Given the description of an element on the screen output the (x, y) to click on. 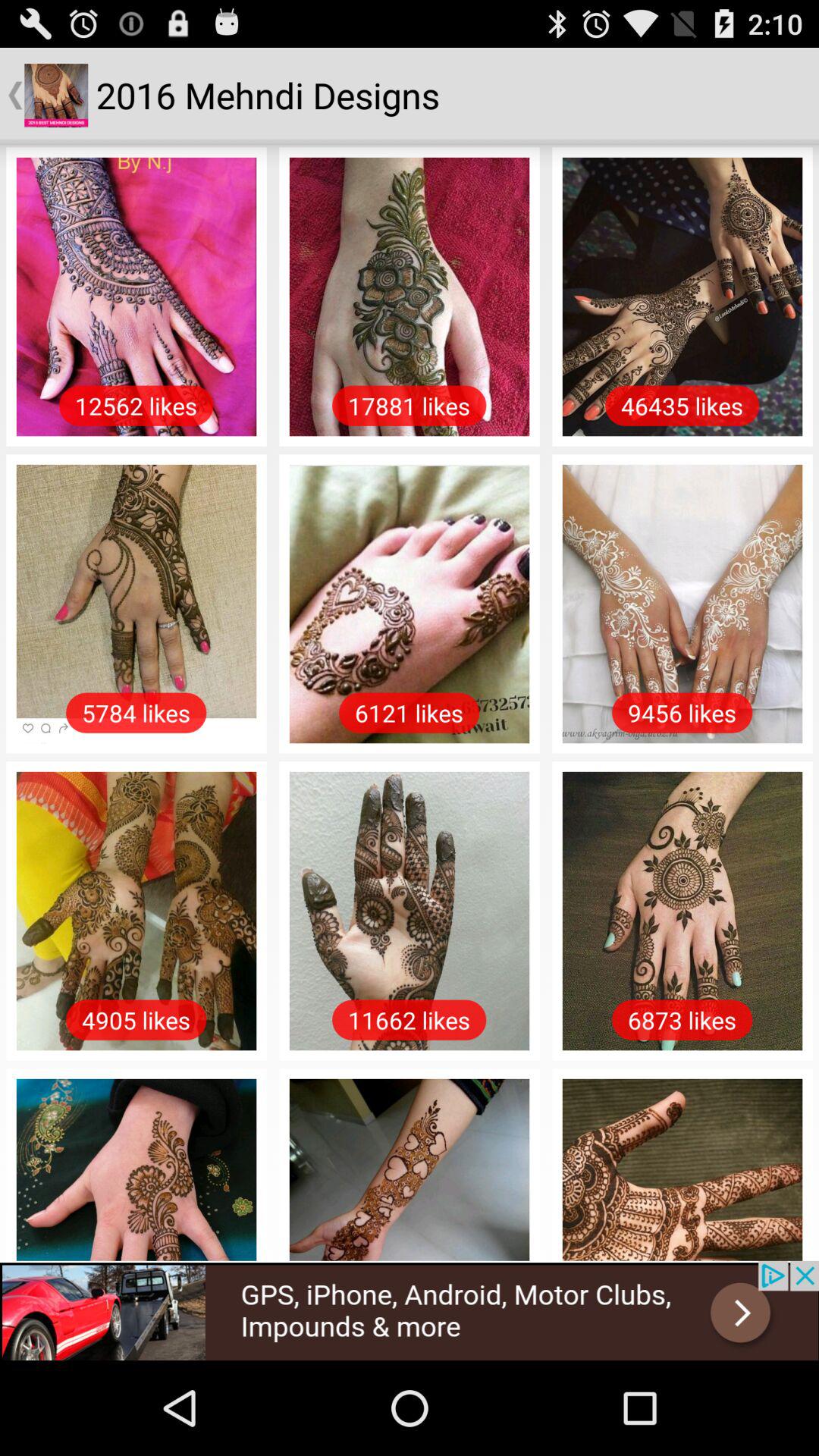
space where you access advertising (409, 1310)
